Given the description of an element on the screen output the (x, y) to click on. 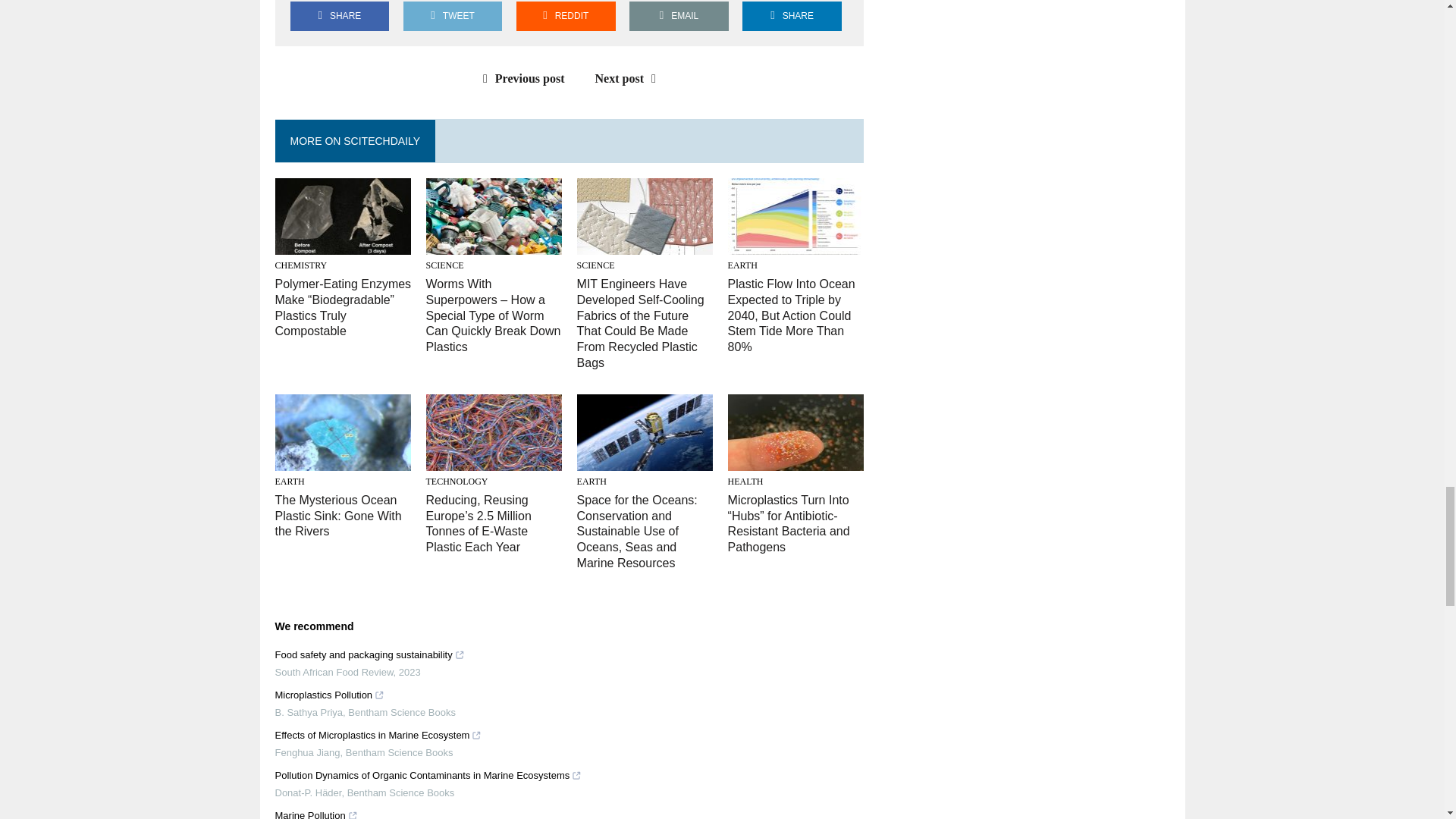
Share on Facebook (338, 16)
